Given the description of an element on the screen output the (x, y) to click on. 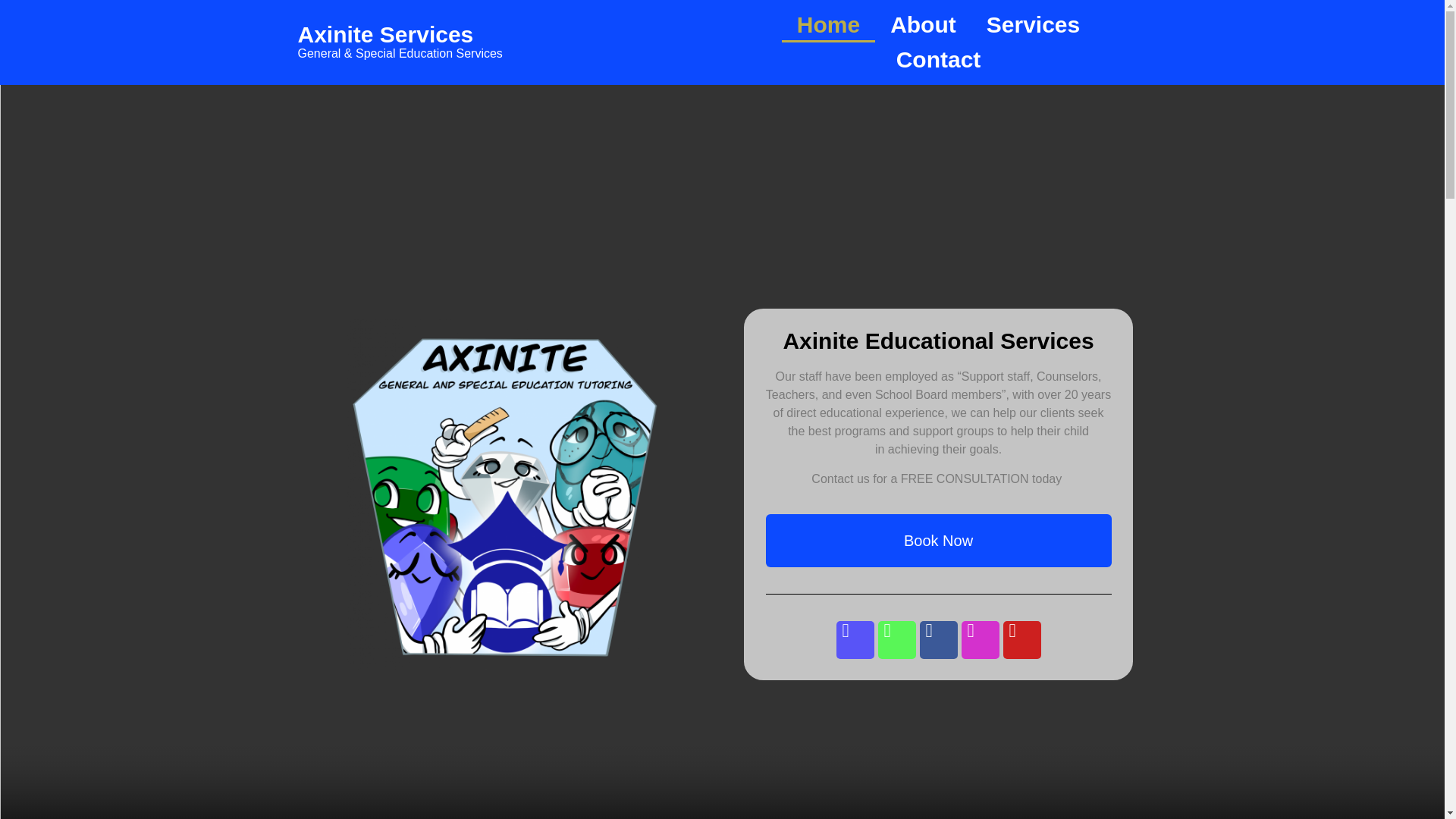
Axinite Services (385, 34)
Services (1032, 24)
About (923, 24)
Home (828, 24)
Book Now (1099, 342)
Contact (937, 59)
